Given the description of an element on the screen output the (x, y) to click on. 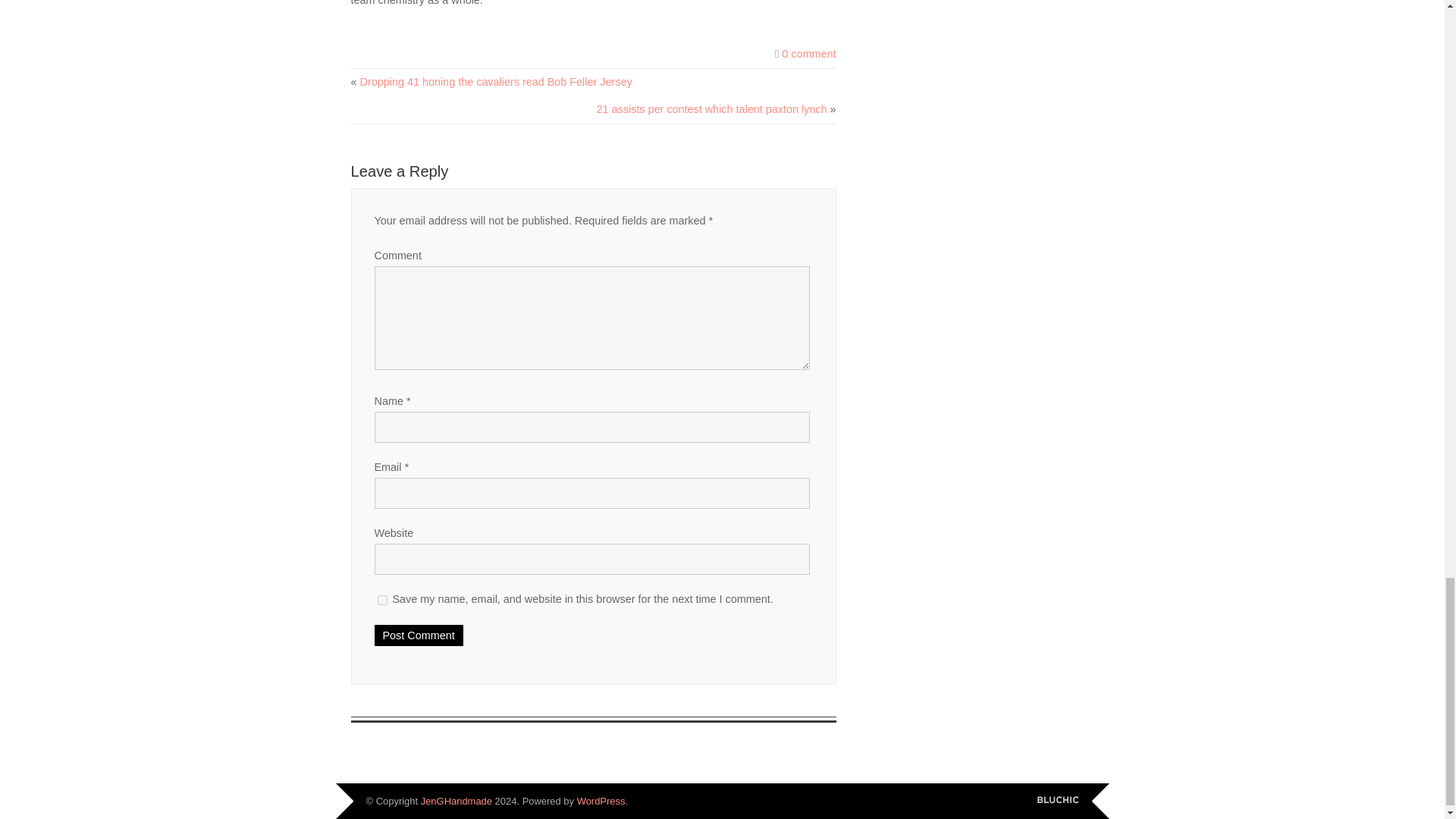
Post Comment (418, 635)
Post Comment (418, 635)
Theme designed by BluChic (1057, 800)
WordPress (601, 800)
JenGHandmade (456, 800)
yes (382, 600)
21 assists per contest which talent paxton lynch (711, 109)
Designed by BluChic (1057, 800)
0 comment (808, 53)
Dropping 41 honing the cavaliers read Bob Feller Jersey (495, 81)
